Given the description of an element on the screen output the (x, y) to click on. 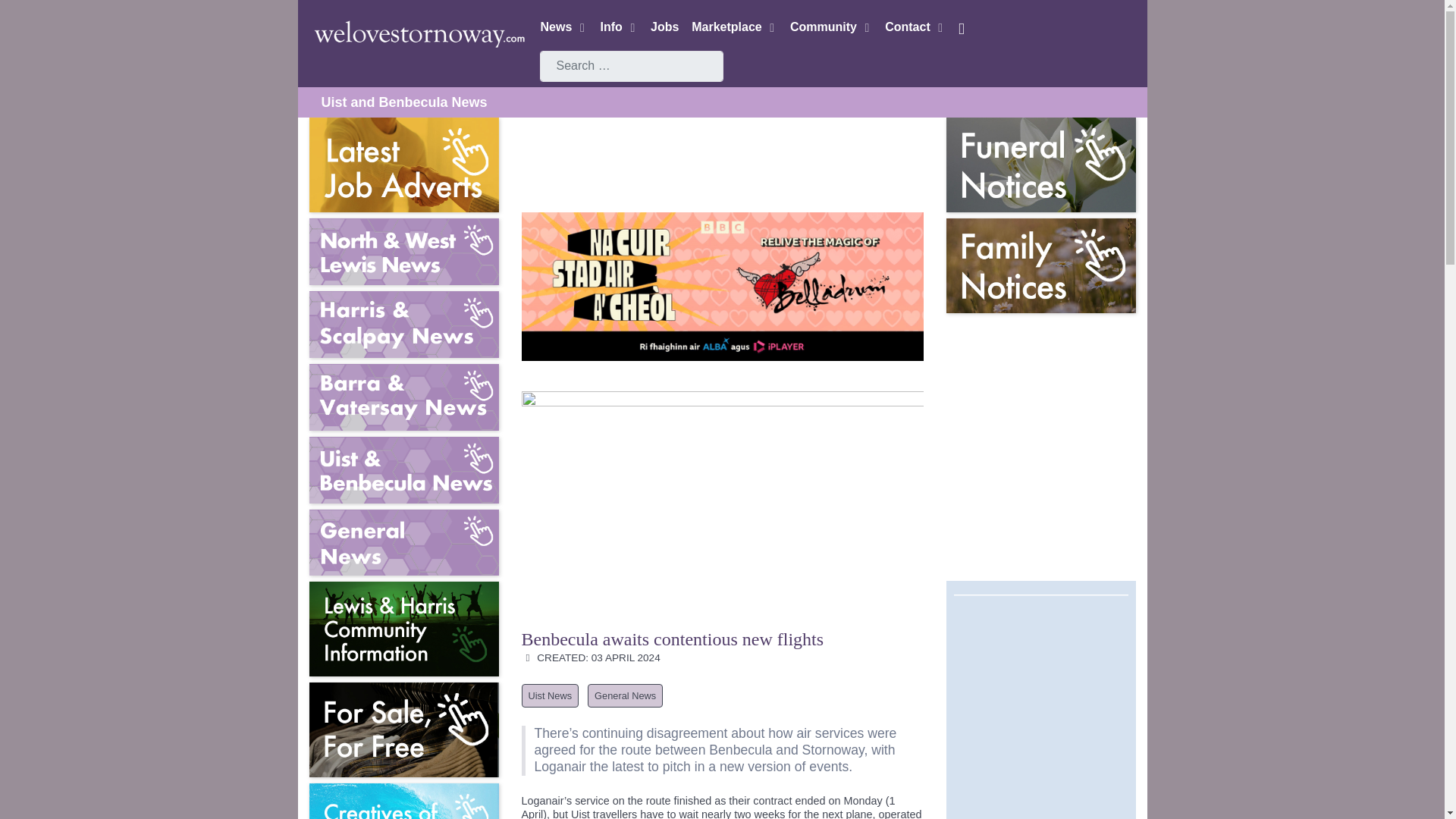
News (563, 28)
Jobs (664, 28)
Community (831, 28)
Contact (914, 28)
